Given the description of an element on the screen output the (x, y) to click on. 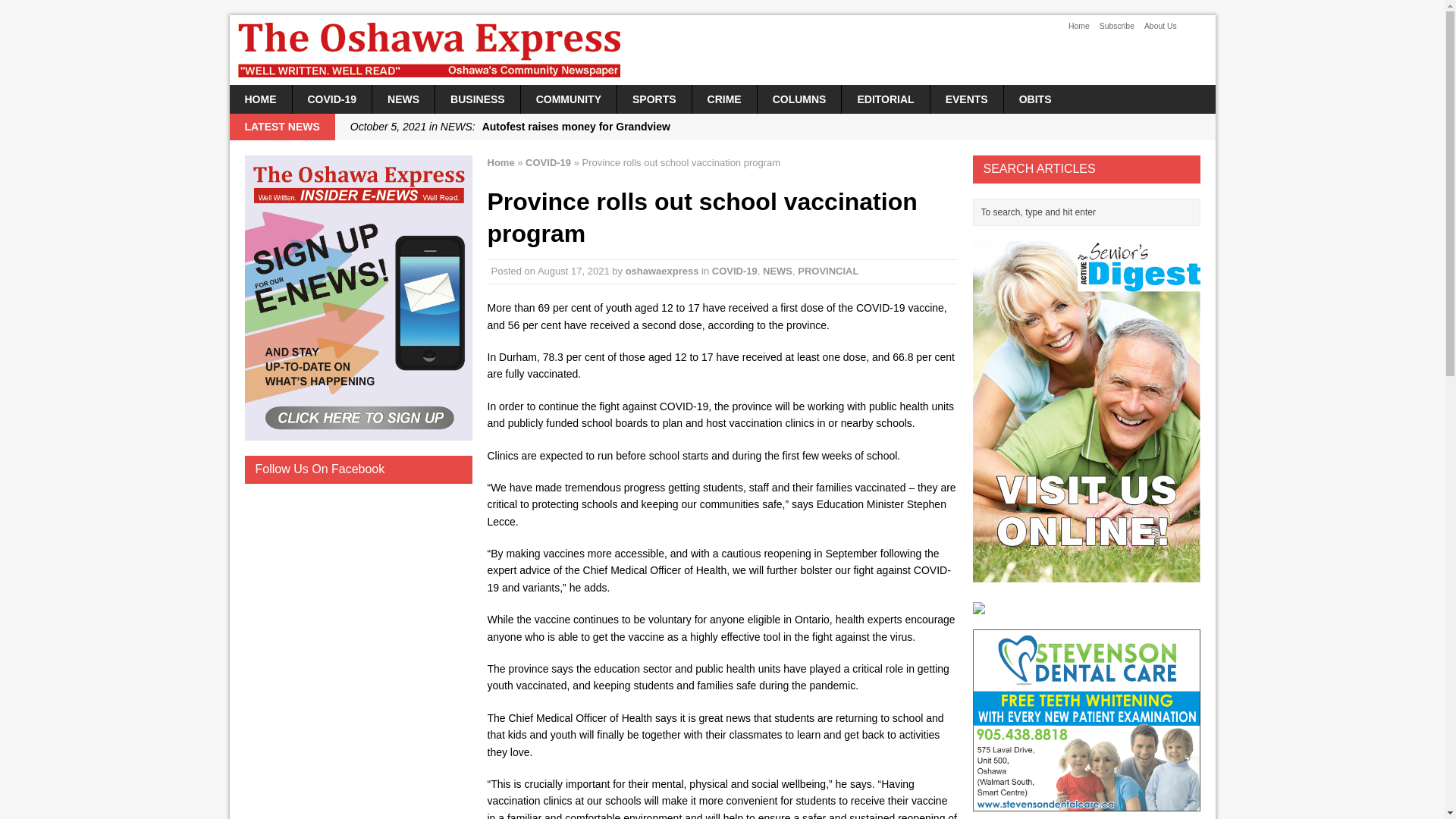
About Us (1159, 26)
NEWS (402, 99)
COLUMNS (799, 99)
EDITORIAL (884, 99)
OBITS (1035, 99)
October 5, 2021 in NEWS: Autofest raises money for Grandview (774, 126)
Autofest raises money for Grandview (774, 126)
BUSINESS (477, 99)
Home (1078, 26)
CRIME (725, 99)
